Given the description of an element on the screen output the (x, y) to click on. 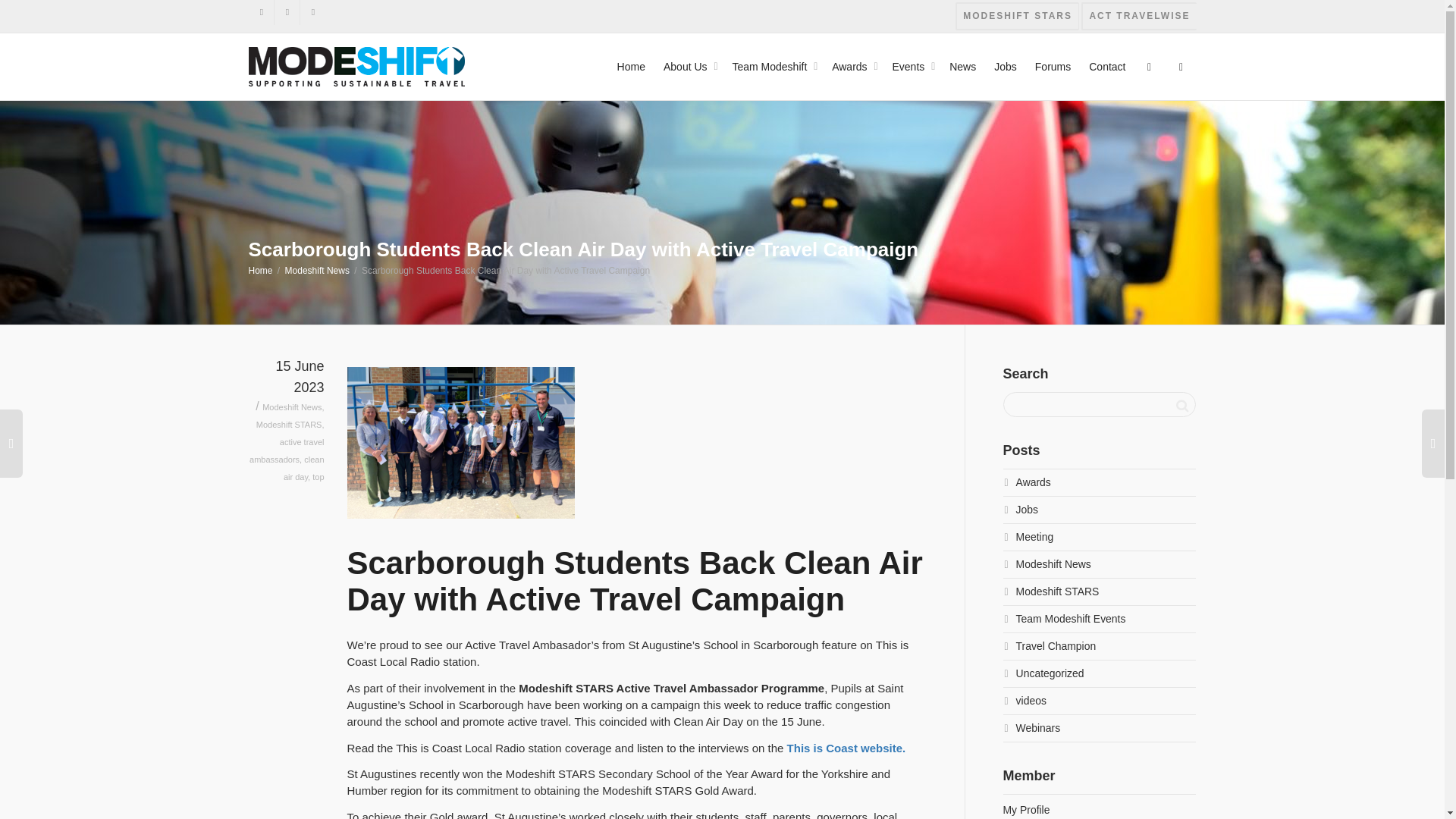
Search (1181, 404)
Team Modeshift (772, 66)
Act TravelWise (1138, 16)
Modeshift STARS (1016, 16)
Home (260, 270)
Modeshift News (317, 270)
Team Modeshift (772, 66)
15 June 2023 (286, 388)
Modeshift - Sustainable Travel (356, 65)
MODESHIFT STARS (1016, 16)
